Given the description of an element on the screen output the (x, y) to click on. 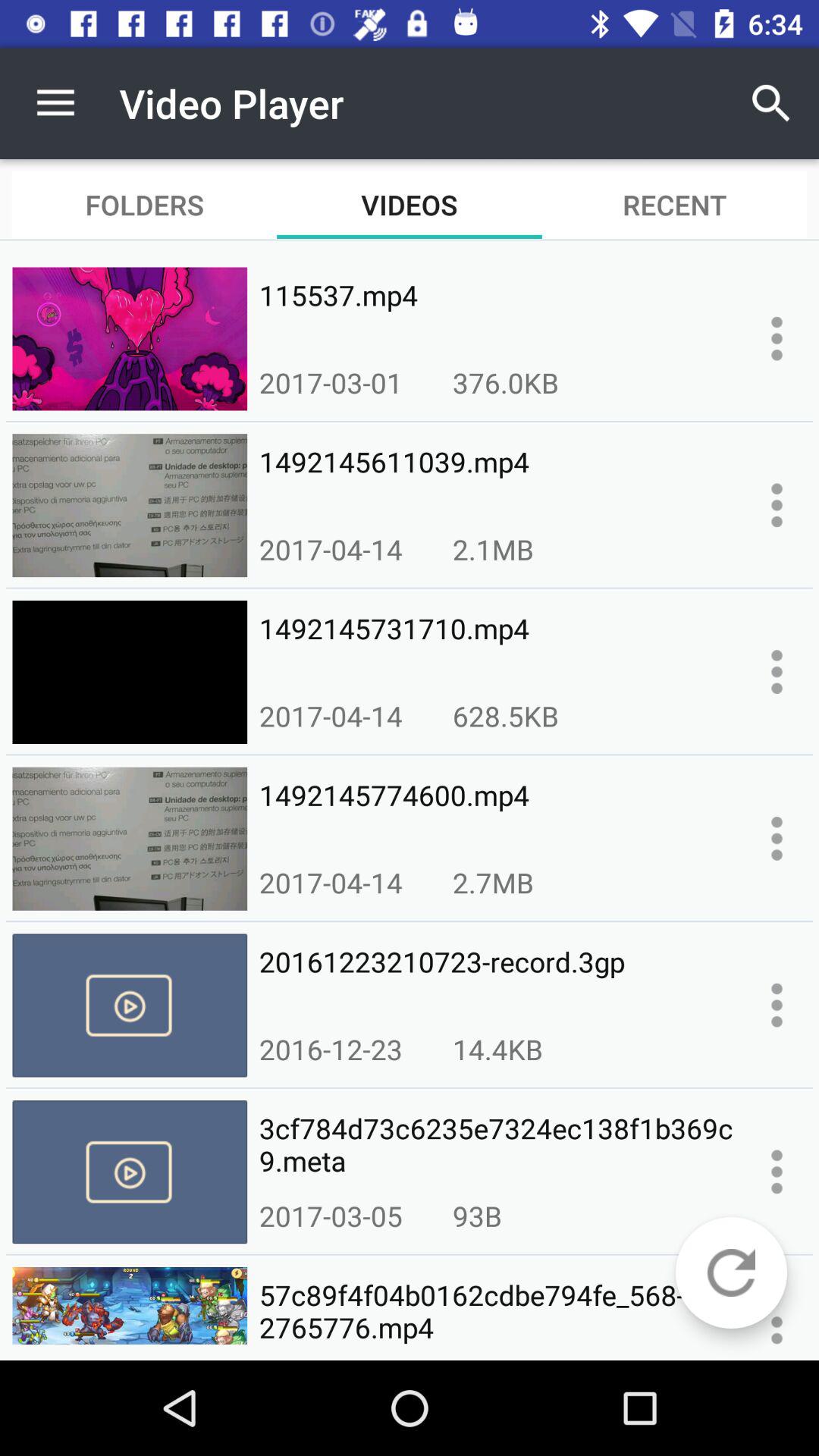
press the item above the 57c89f4f04b0162cdbe794fe_568-1472765776.mp4 item (477, 1215)
